Given the description of an element on the screen output the (x, y) to click on. 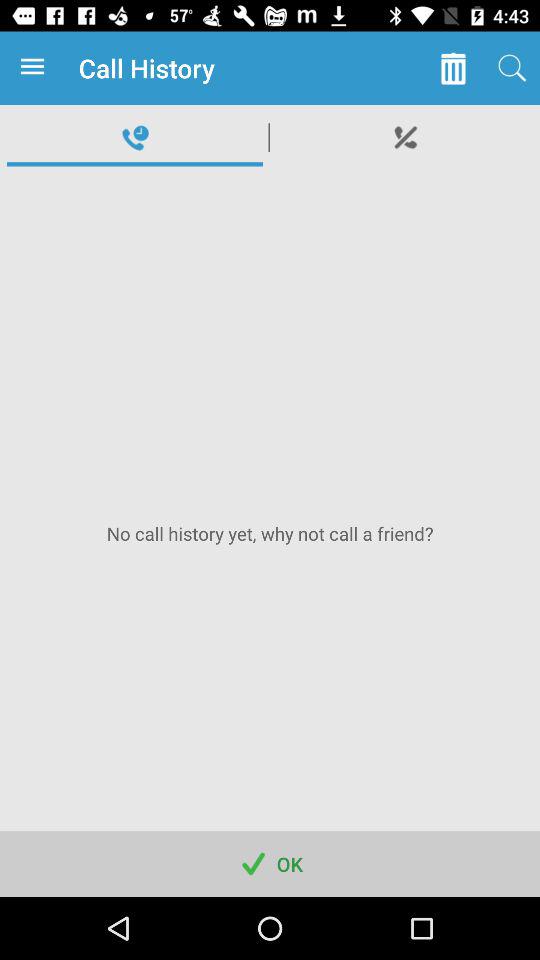
click app below the no call history app (270, 863)
